Given the description of an element on the screen output the (x, y) to click on. 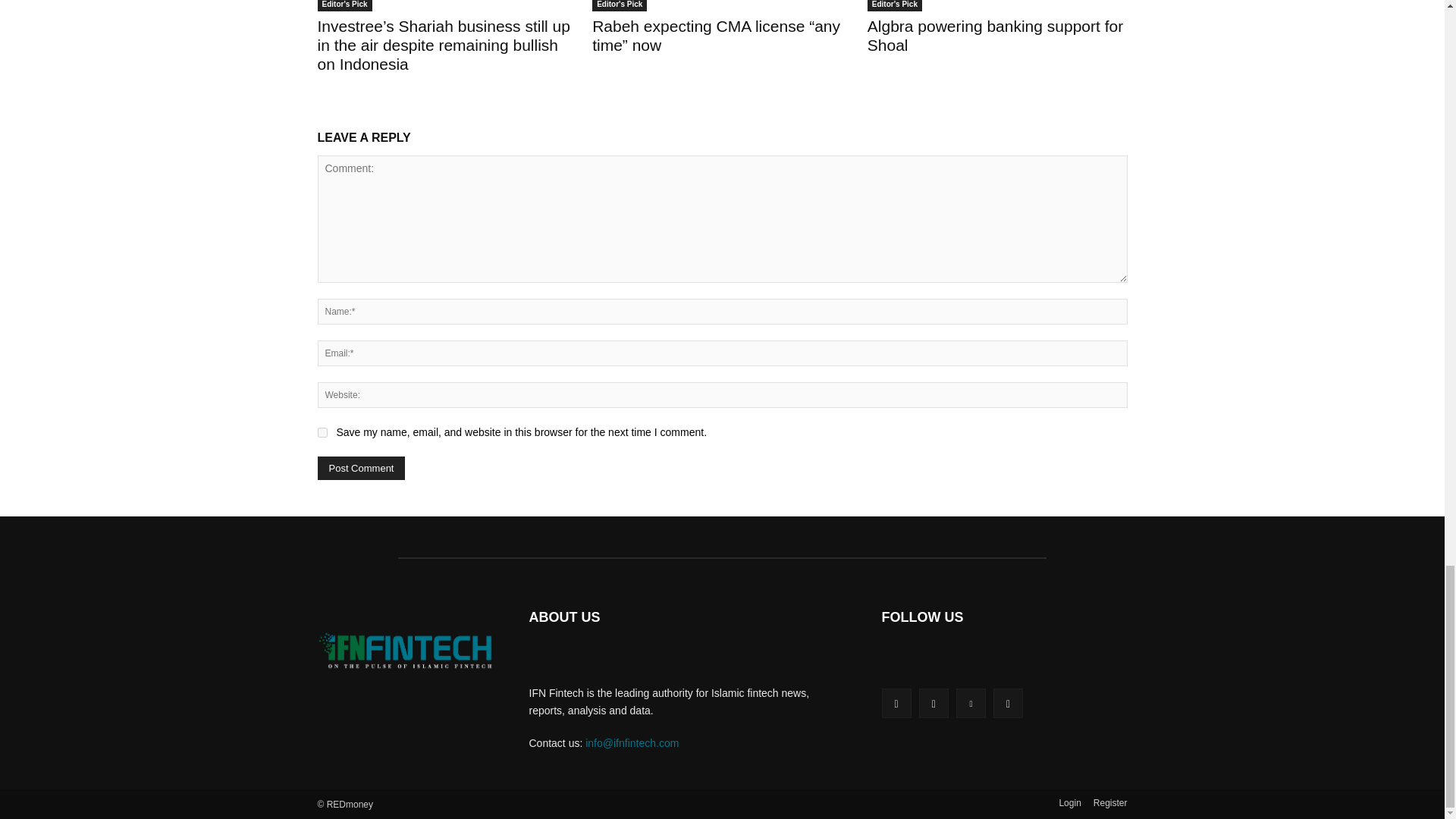
Post Comment (360, 467)
yes (321, 432)
